Given the description of an element on the screen output the (x, y) to click on. 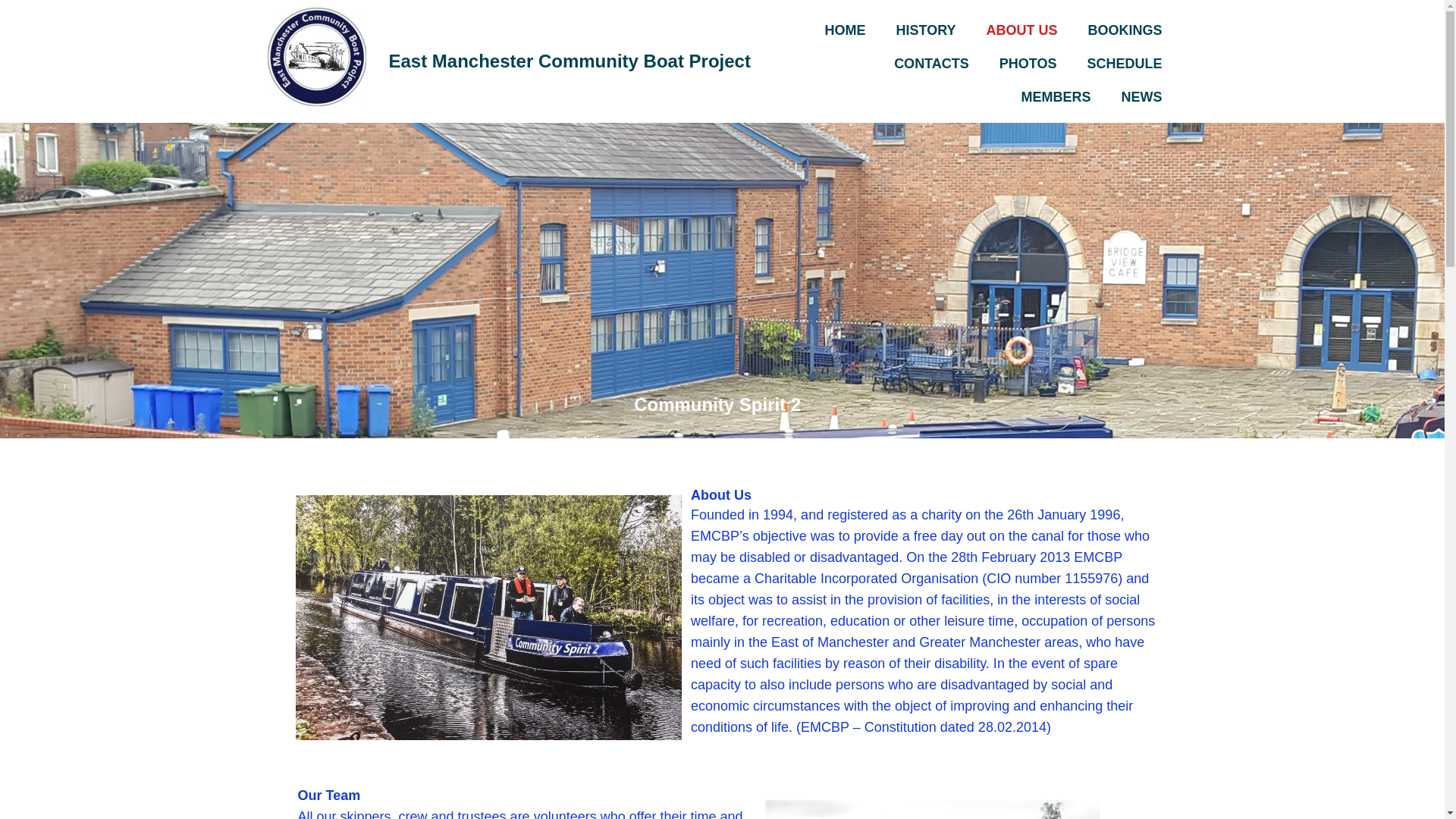
SCHEDULE (1123, 63)
MEMBERS (1055, 96)
HISTORY (925, 29)
PHOTOS (1027, 63)
NEWS (1141, 96)
HOME (844, 29)
BOOKINGS (1124, 29)
ABOUT US (1021, 29)
CONTACTS (931, 63)
